Given the description of an element on the screen output the (x, y) to click on. 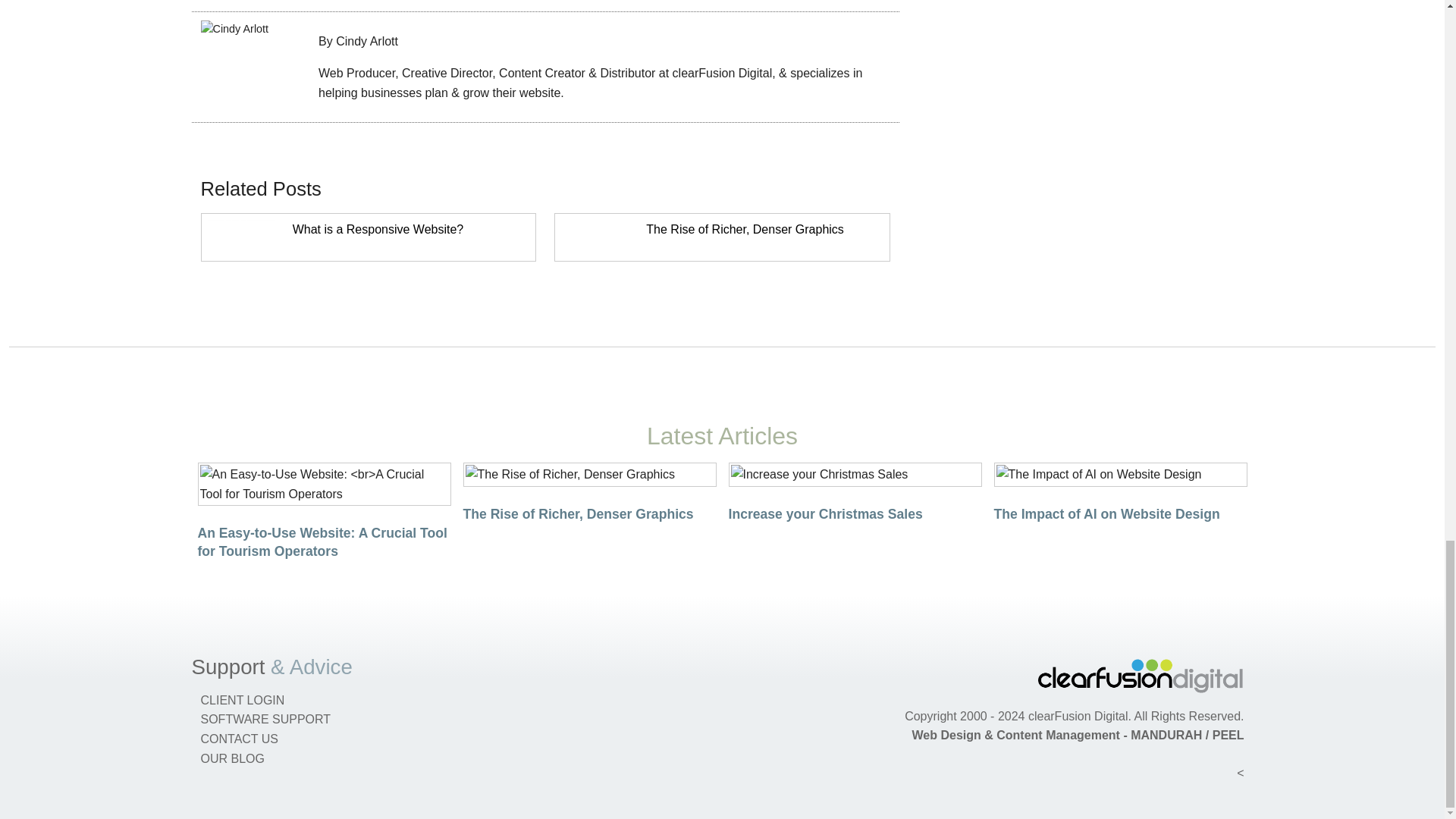
Site Support (227, 666)
The Impact of AI on Website Design (1106, 513)
What is a Responsive Website? (378, 228)
The Rise of Richer, Denser Graphics (578, 513)
An Easy-to-Use Website: A Crucial Tool for Tourism Operators (321, 541)
The Rise of Richer, Denser Graphics (745, 228)
Increase your Christmas Sales (824, 513)
